Given the description of an element on the screen output the (x, y) to click on. 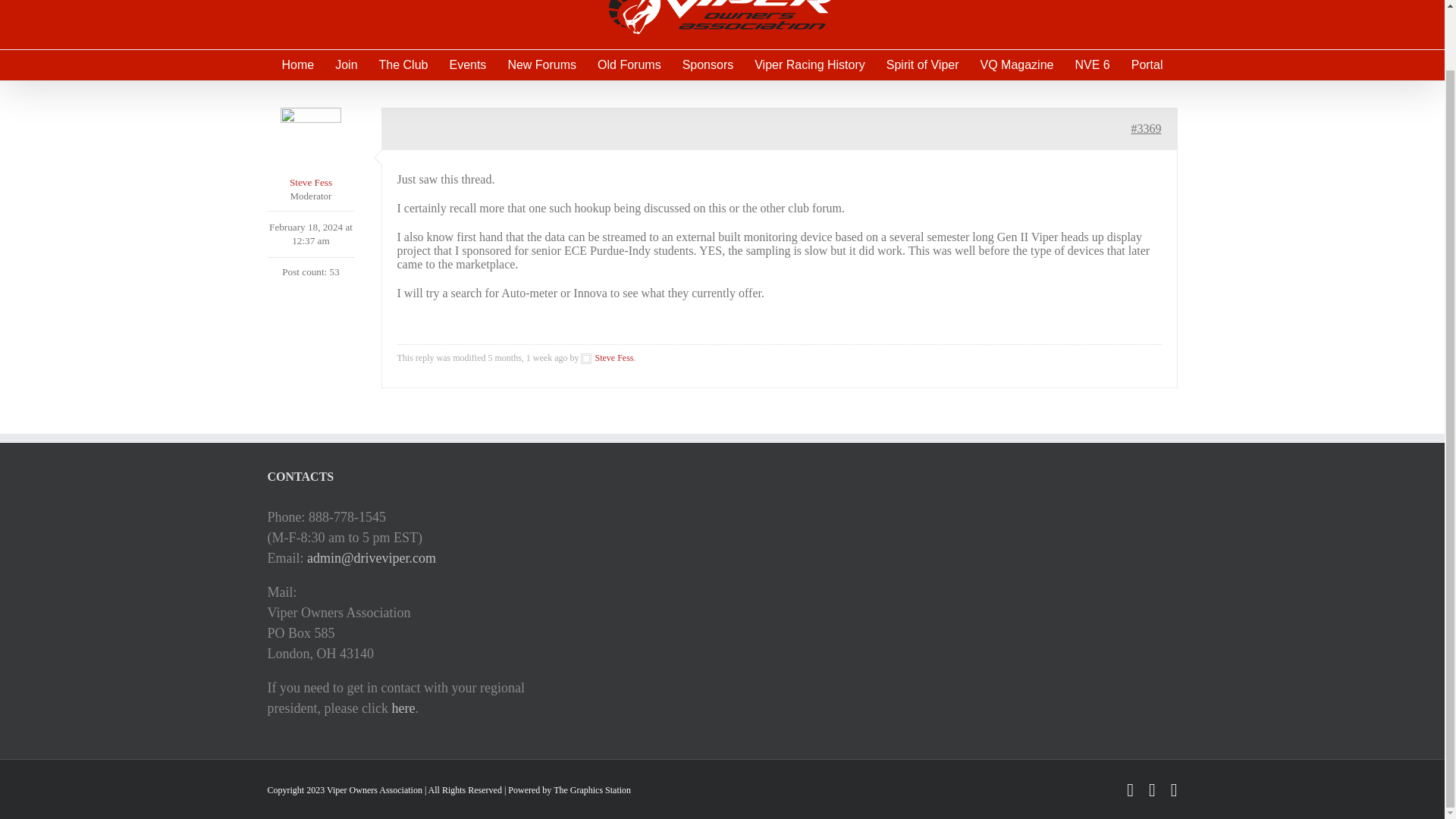
New Forums (541, 64)
View Steve Fess's profile (606, 357)
Home (297, 64)
The Club (403, 64)
Viper Racing History (809, 64)
Old Forums (628, 64)
View Steve Fess's profile (309, 148)
Portal (1147, 64)
NVE 6 (1091, 64)
VQ Magazine (1016, 64)
Sponsors (707, 64)
Spirit of Viper (922, 64)
Events (467, 64)
